Given the description of an element on the screen output the (x, y) to click on. 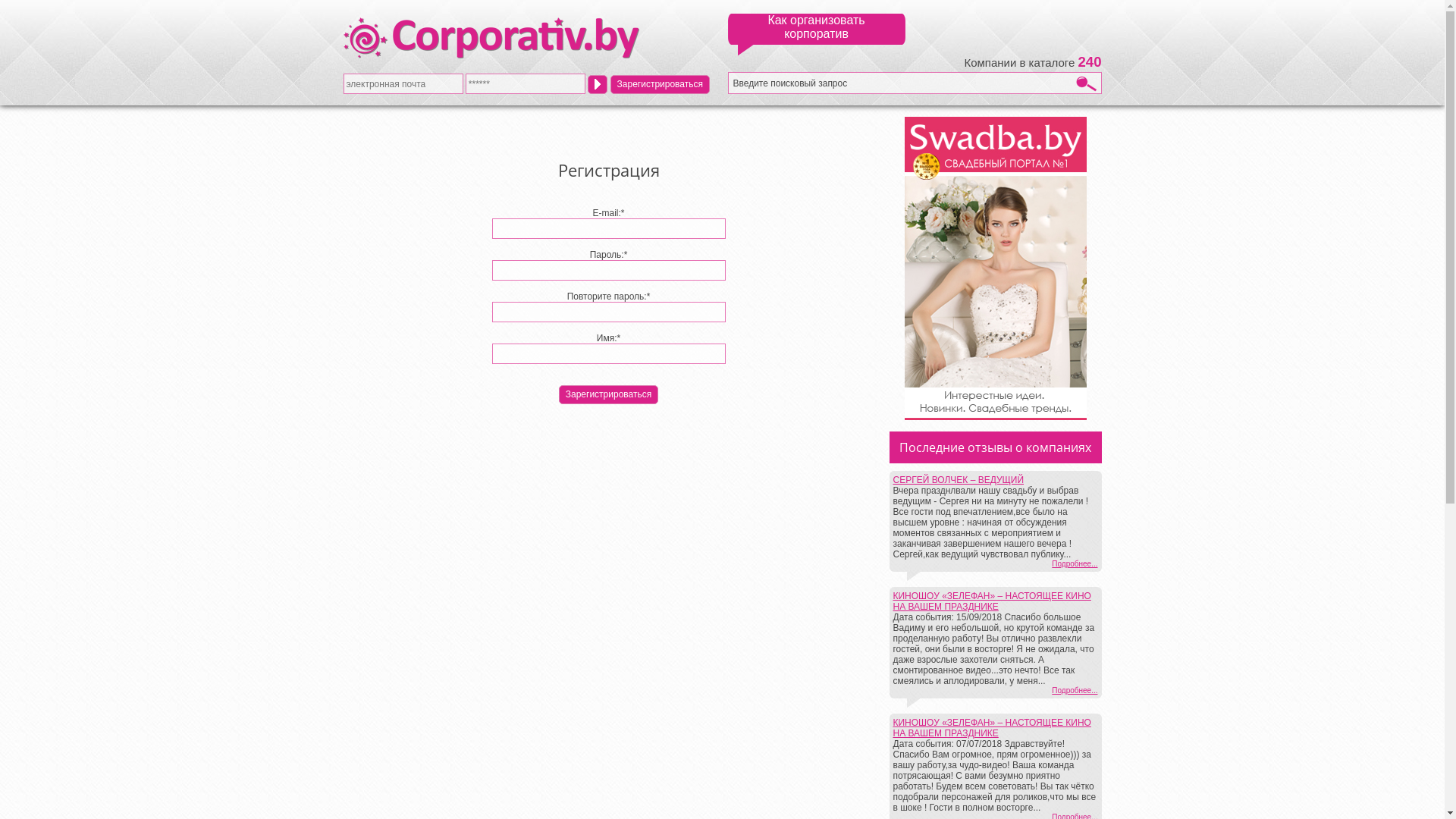
  Element type: text (597, 83)
